Given the description of an element on the screen output the (x, y) to click on. 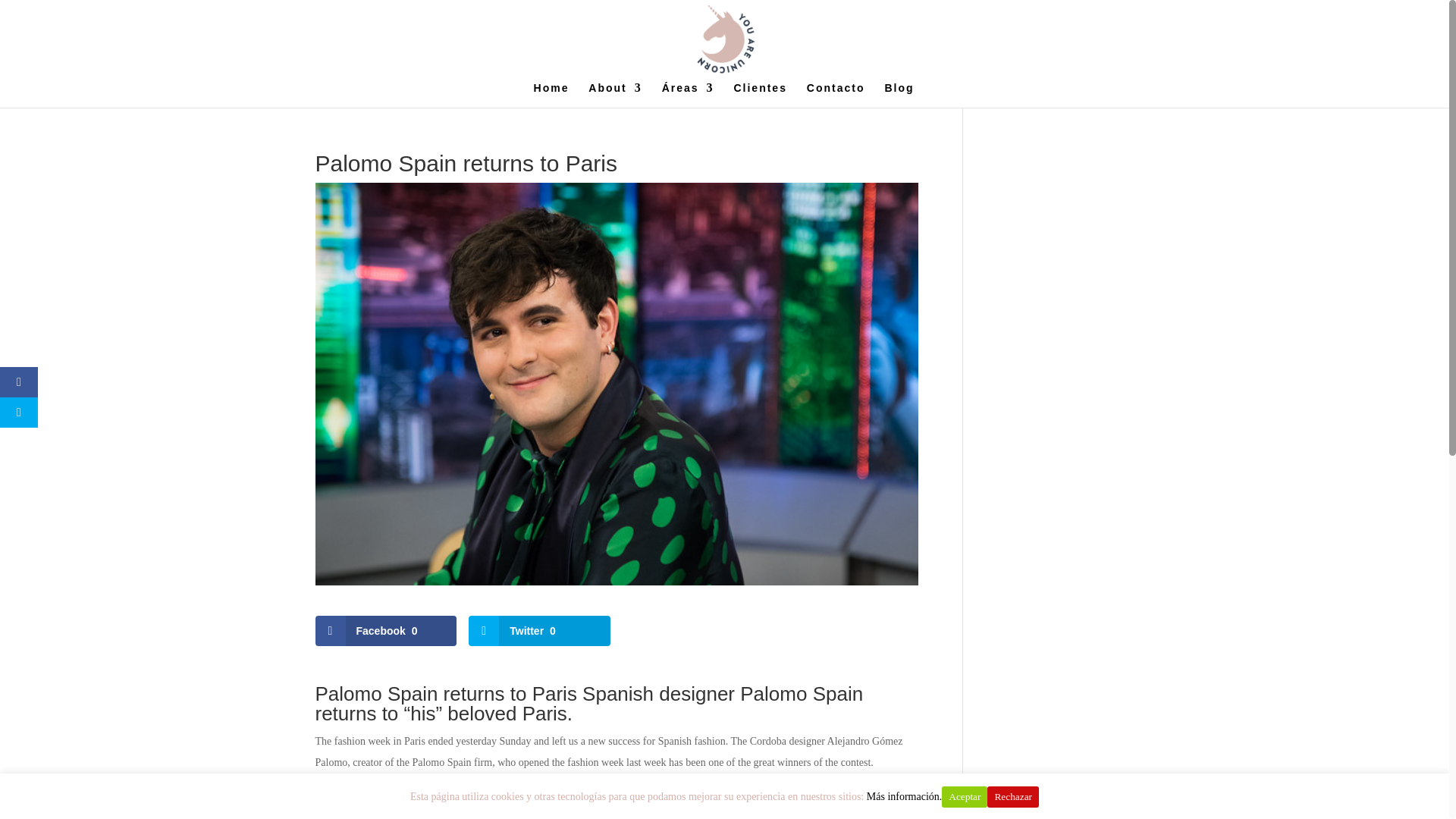
Facebook 0 (386, 630)
About (615, 94)
Blog (898, 94)
Contacto (835, 94)
Leer Mas (1088, 797)
Twitter 0 (539, 630)
Home (551, 94)
Clientes (759, 94)
Acepto (1039, 797)
